Given the description of an element on the screen output the (x, y) to click on. 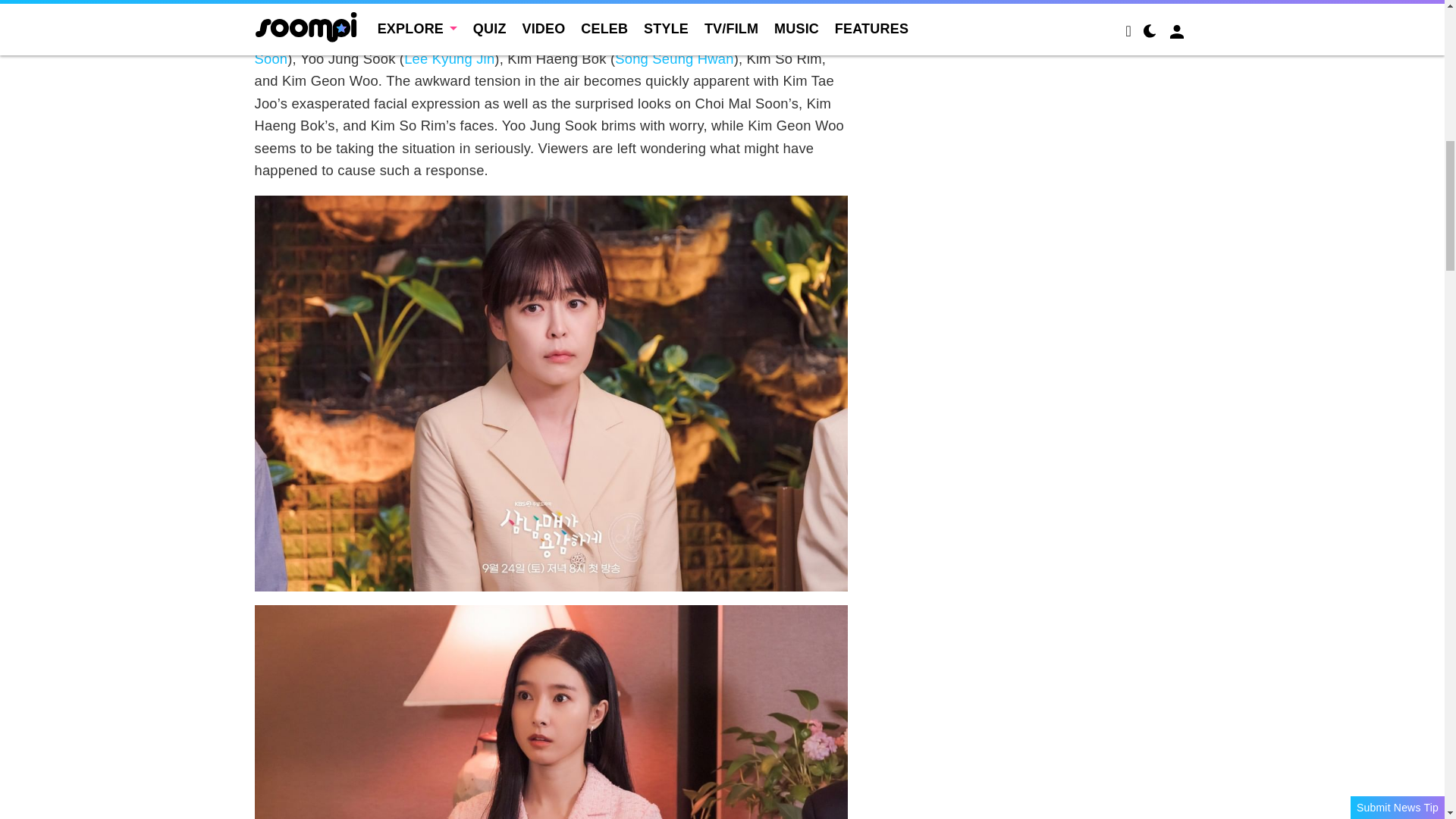
Song Seung Hwan (673, 58)
Lee Kyung Jin (449, 58)
Jung Jae Soon (547, 46)
